Given the description of an element on the screen output the (x, y) to click on. 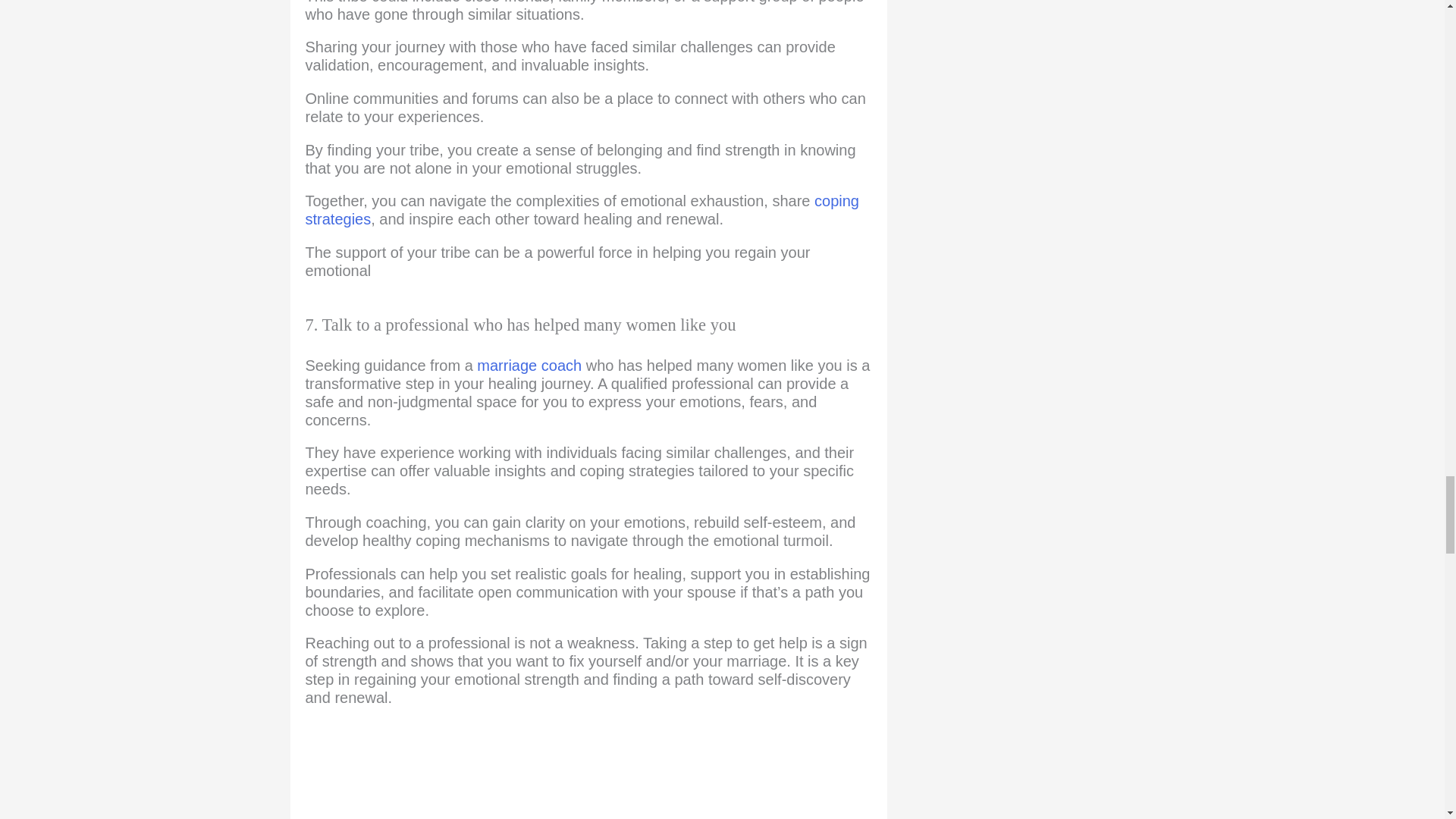
coping strategies (581, 209)
marriage coach (528, 365)
